Given the description of an element on the screen output the (x, y) to click on. 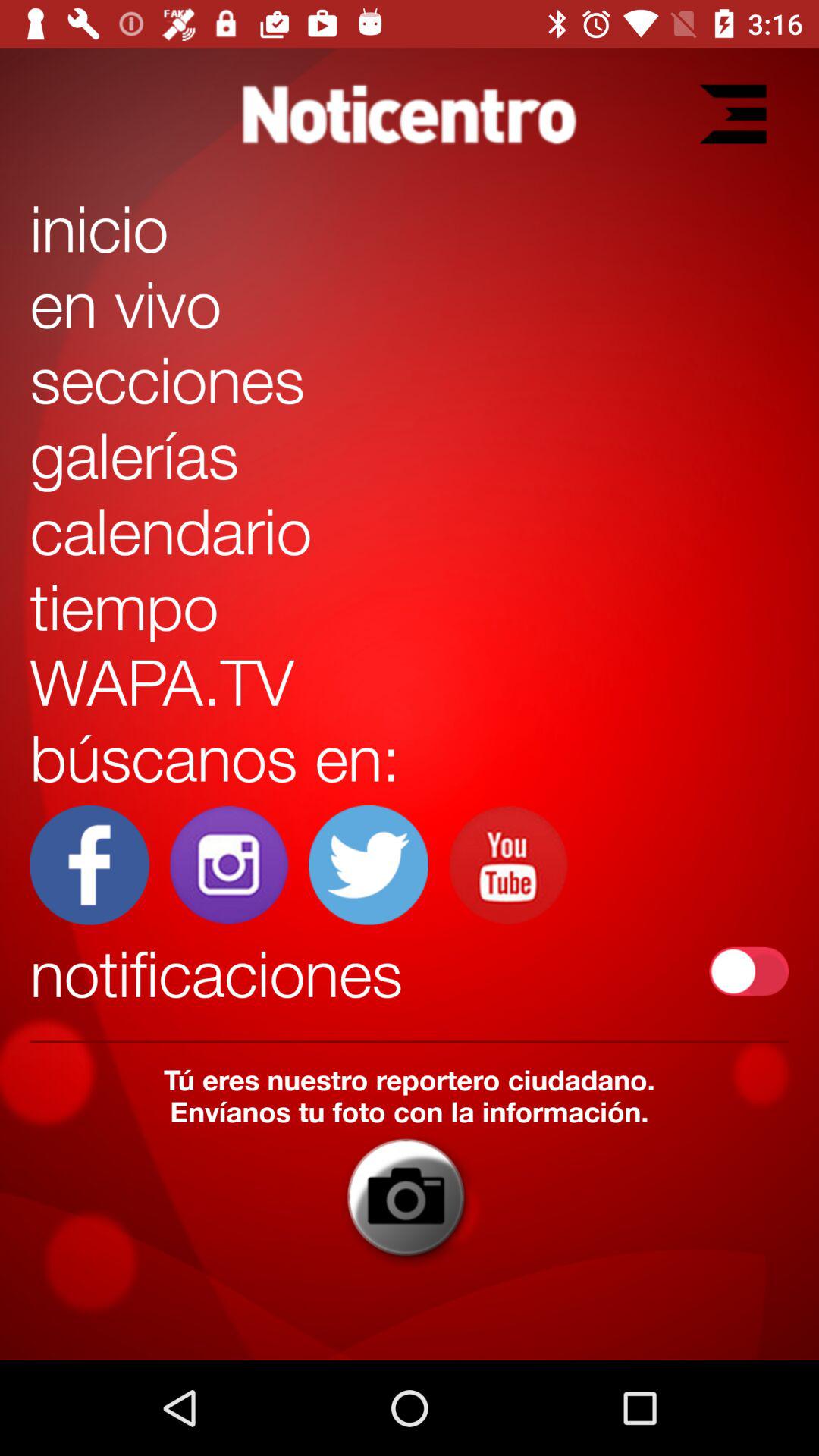
share to facebook (89, 864)
